Given the description of an element on the screen output the (x, y) to click on. 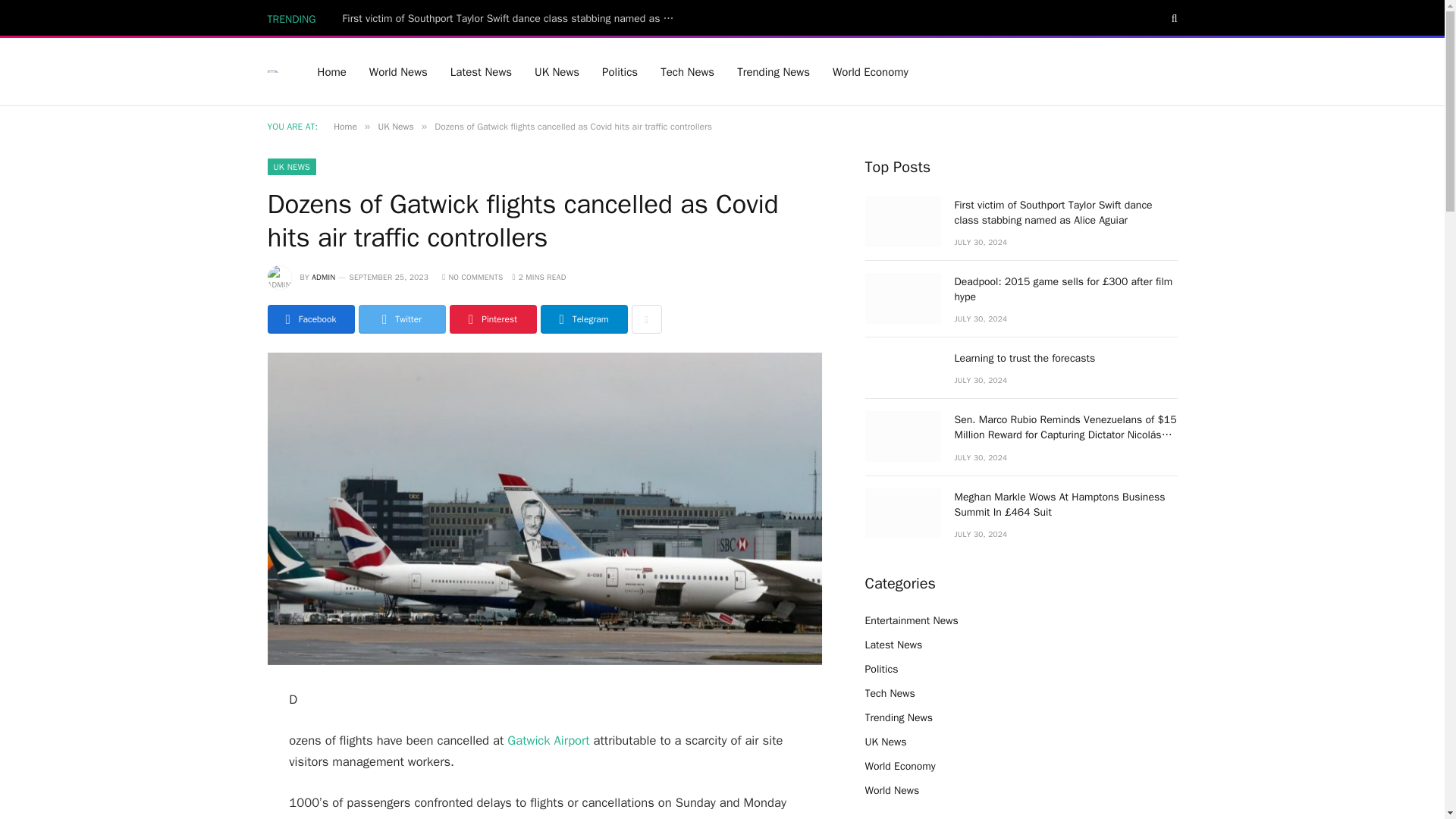
Latest News (480, 71)
World News (398, 71)
Home (344, 126)
Posts by admin (322, 276)
UK News (395, 126)
UK News (556, 71)
NO COMMENTS (472, 276)
UK NEWS (290, 166)
Share on Pinterest (491, 318)
Tech News (687, 71)
Share on Telegram (583, 318)
Twitter (401, 318)
Share on Facebook (309, 318)
Share on Twitter (401, 318)
